Given the description of an element on the screen output the (x, y) to click on. 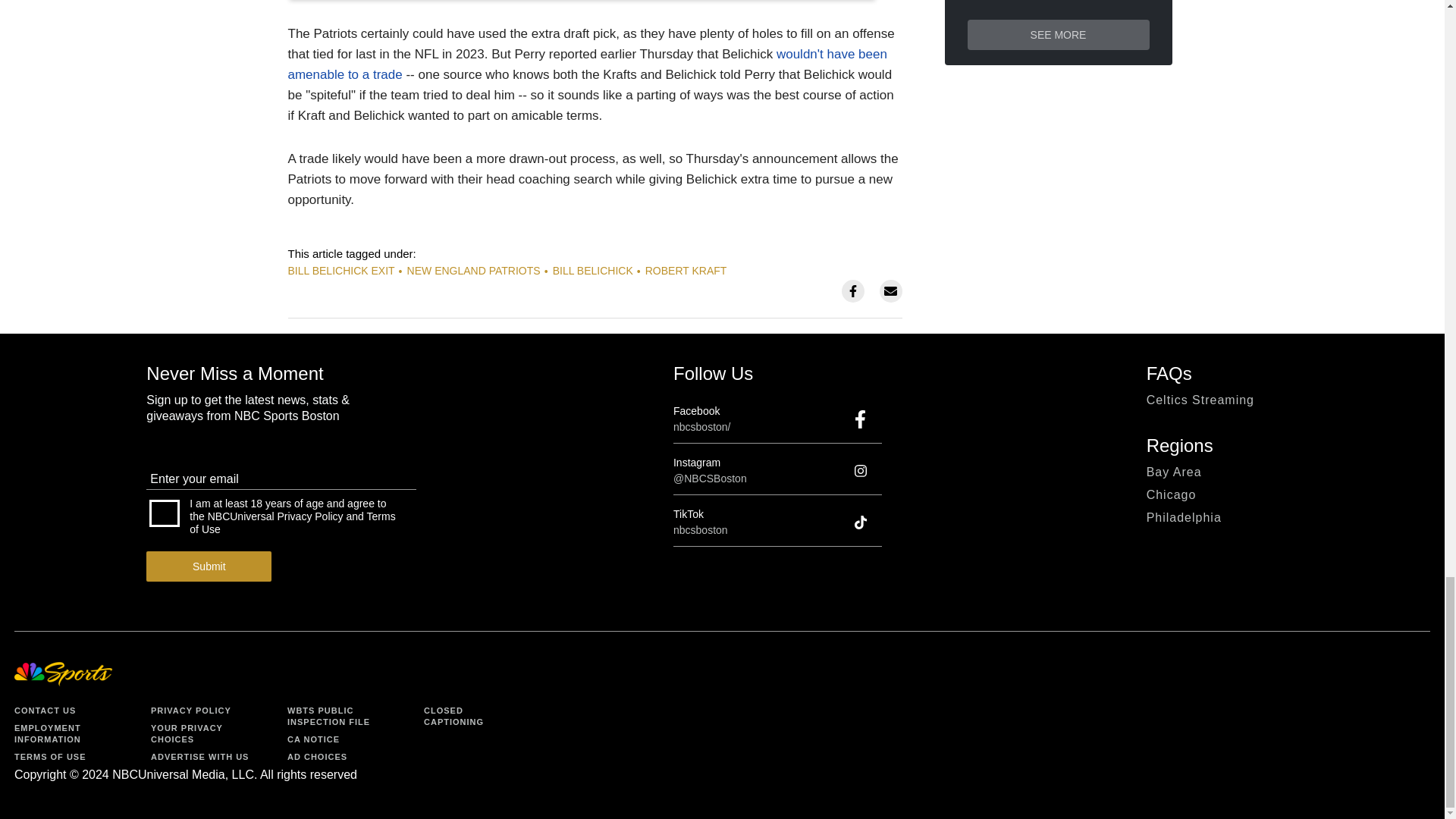
NEW ENGLAND PATRIOTS (473, 270)
wouldn't have been amenable to a trade (587, 63)
on (164, 513)
BILL BELICHICK EXIT (341, 270)
